Given the description of an element on the screen output the (x, y) to click on. 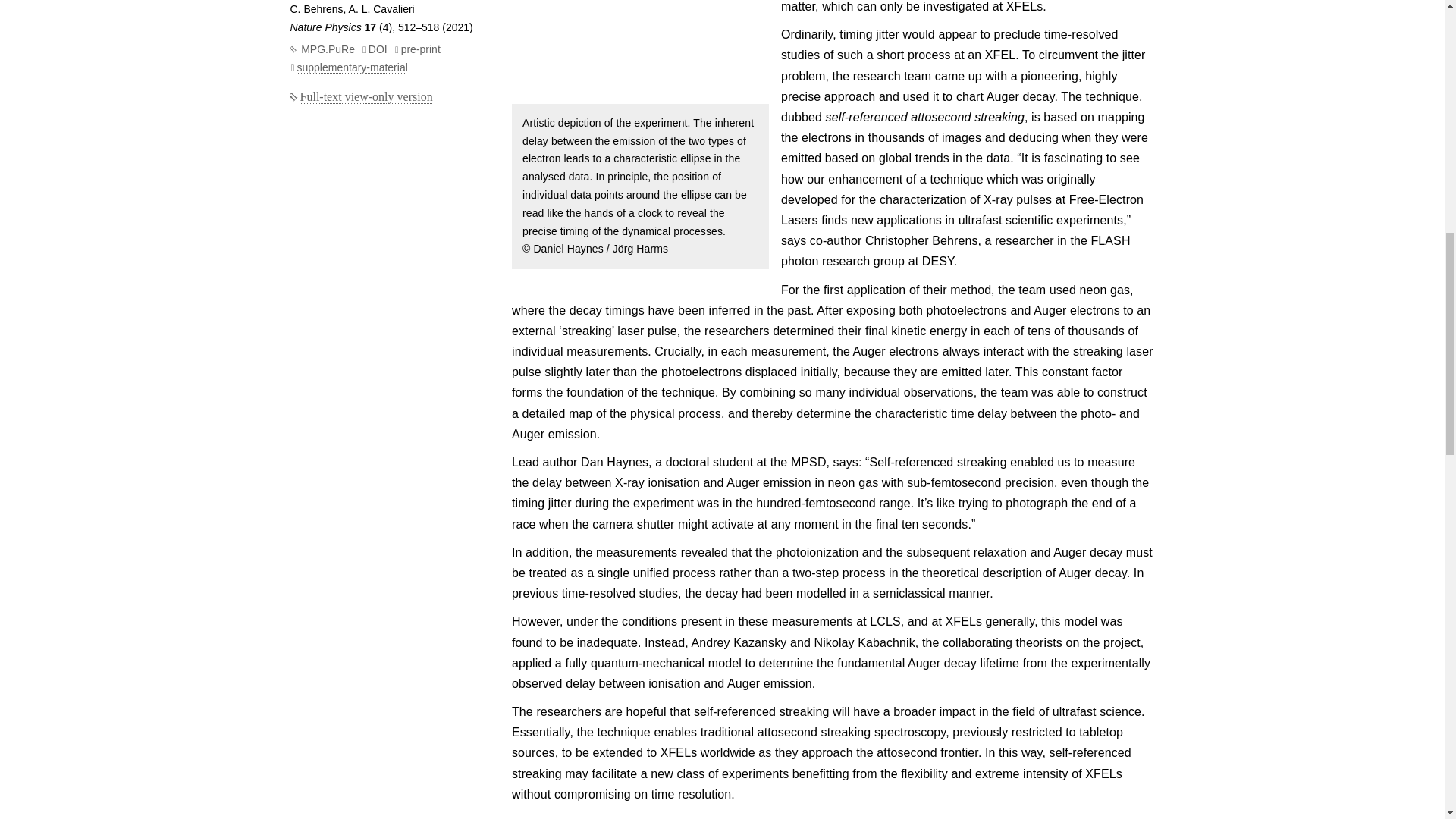
Full-text view-only version (360, 96)
opens zoom view (640, 52)
